Given the description of an element on the screen output the (x, y) to click on. 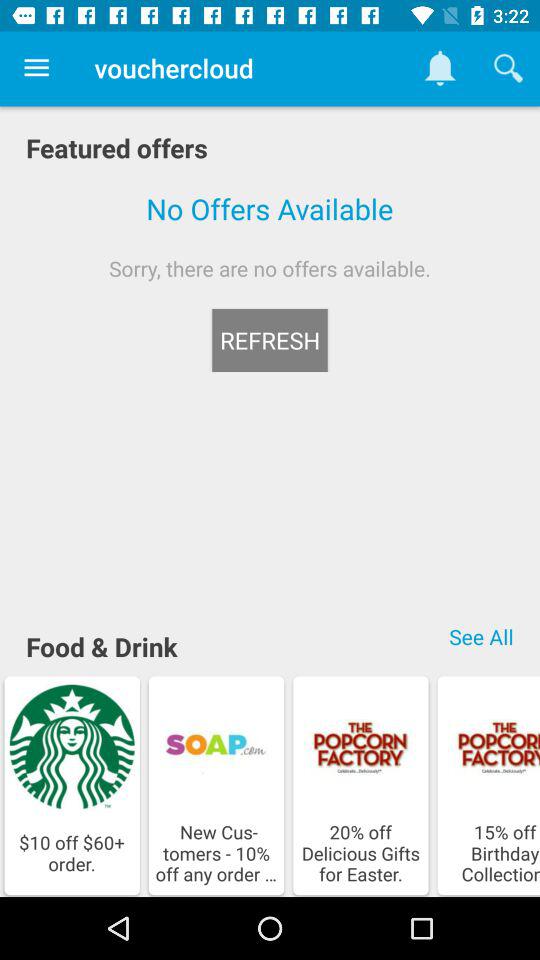
turn on icon below the sorry there are icon (269, 340)
